Given the description of an element on the screen output the (x, y) to click on. 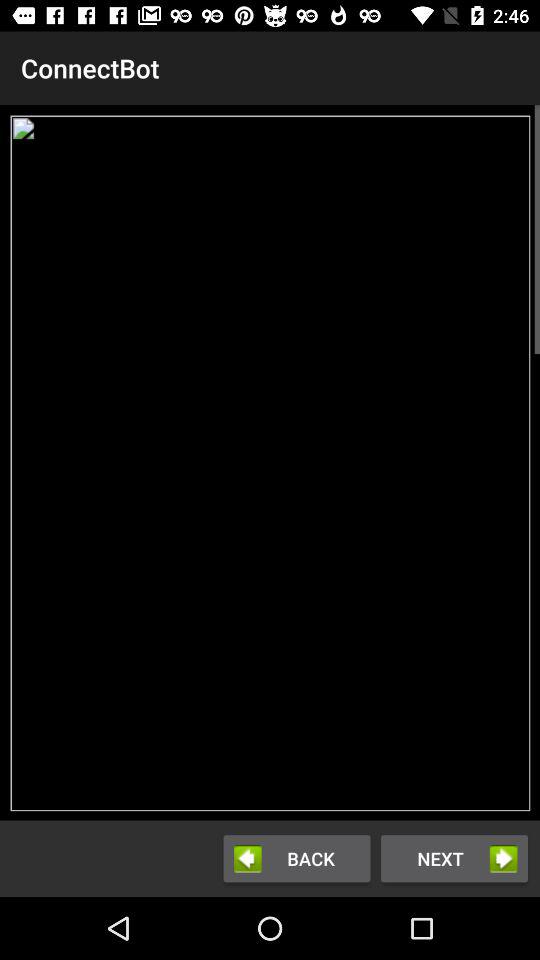
press back (296, 858)
